Given the description of an element on the screen output the (x, y) to click on. 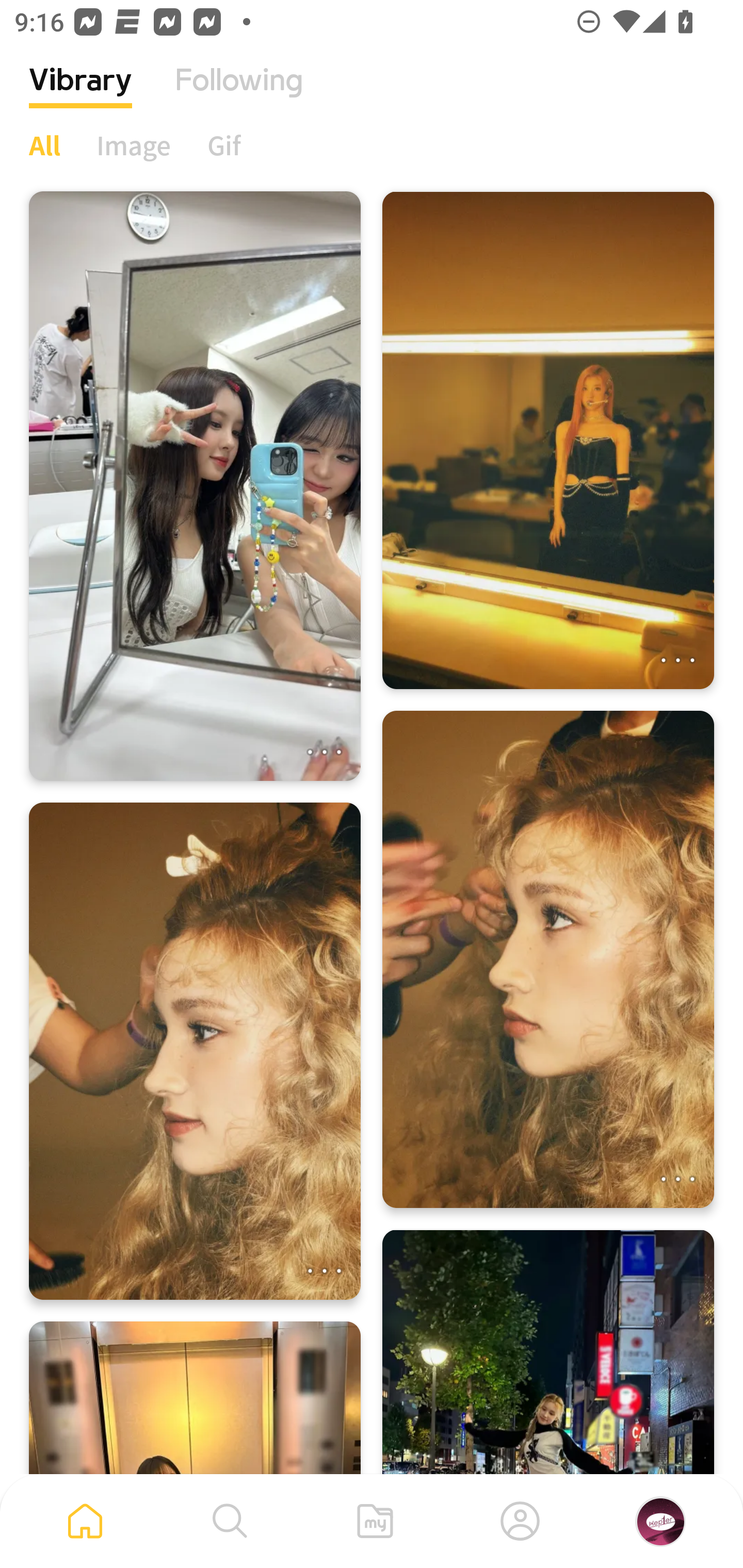
Vibrary (80, 95)
Following (239, 95)
All (44, 145)
Image (133, 145)
Gif (223, 145)
